Given the description of an element on the screen output the (x, y) to click on. 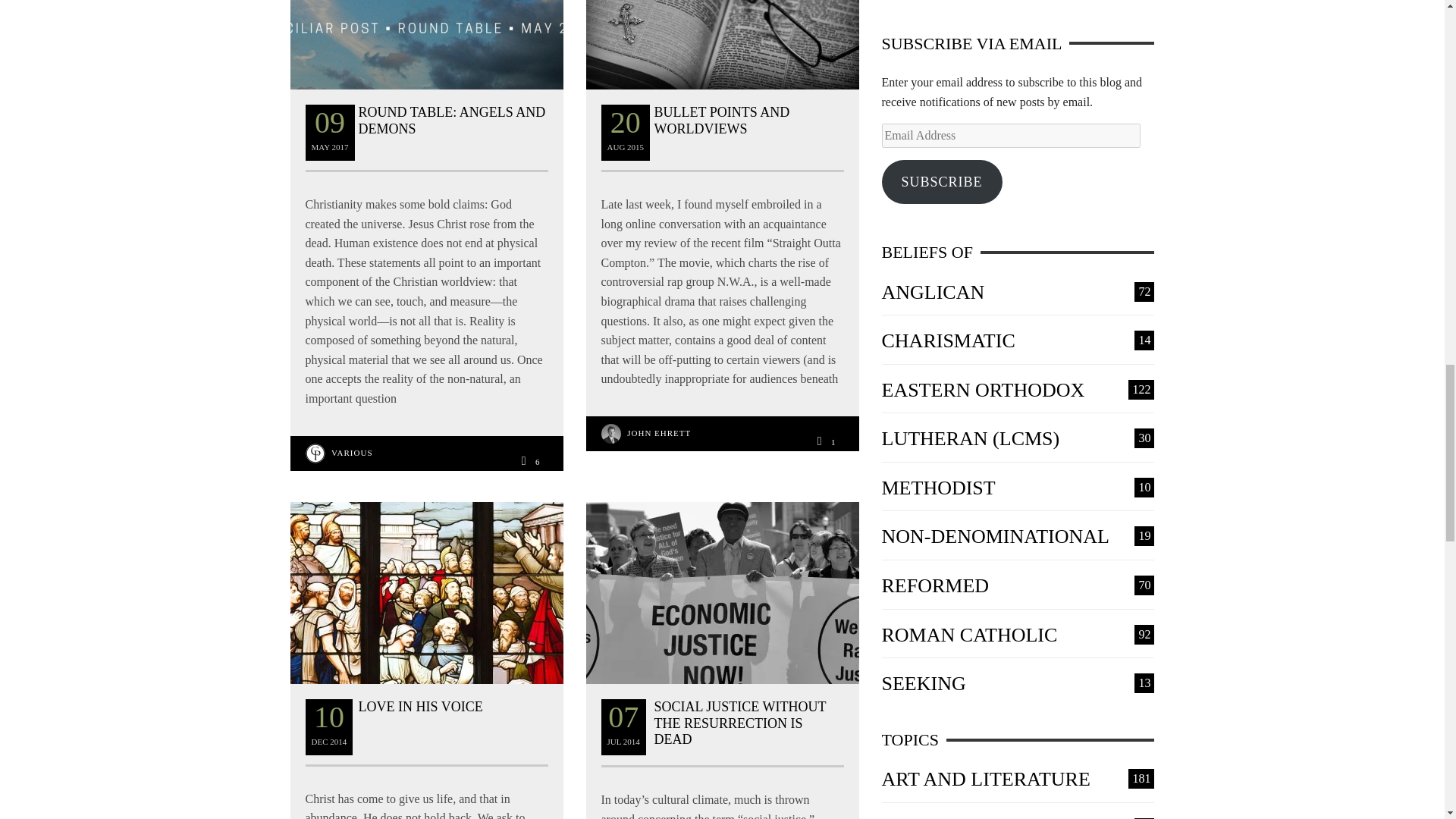
Permalink to Round Table: Angels and Demons (451, 120)
View all posts by Various (351, 452)
View all posts by John Ehrett (658, 432)
Permalink to Bullet Points and Worldviews (721, 120)
Permalink to Love In His Voice (419, 706)
